Given the description of an element on the screen output the (x, y) to click on. 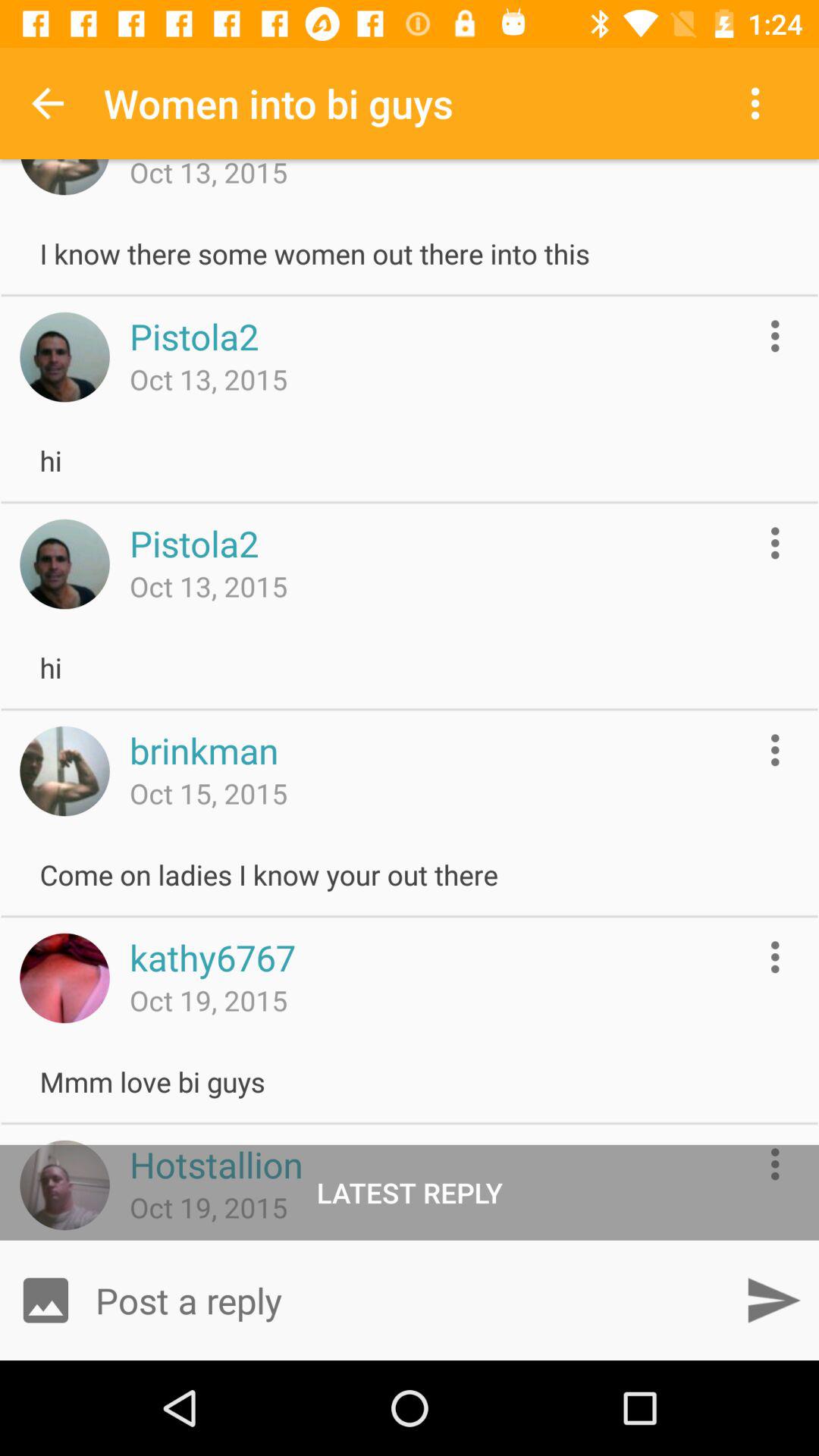
to the comment section and more option (775, 543)
